Given the description of an element on the screen output the (x, y) to click on. 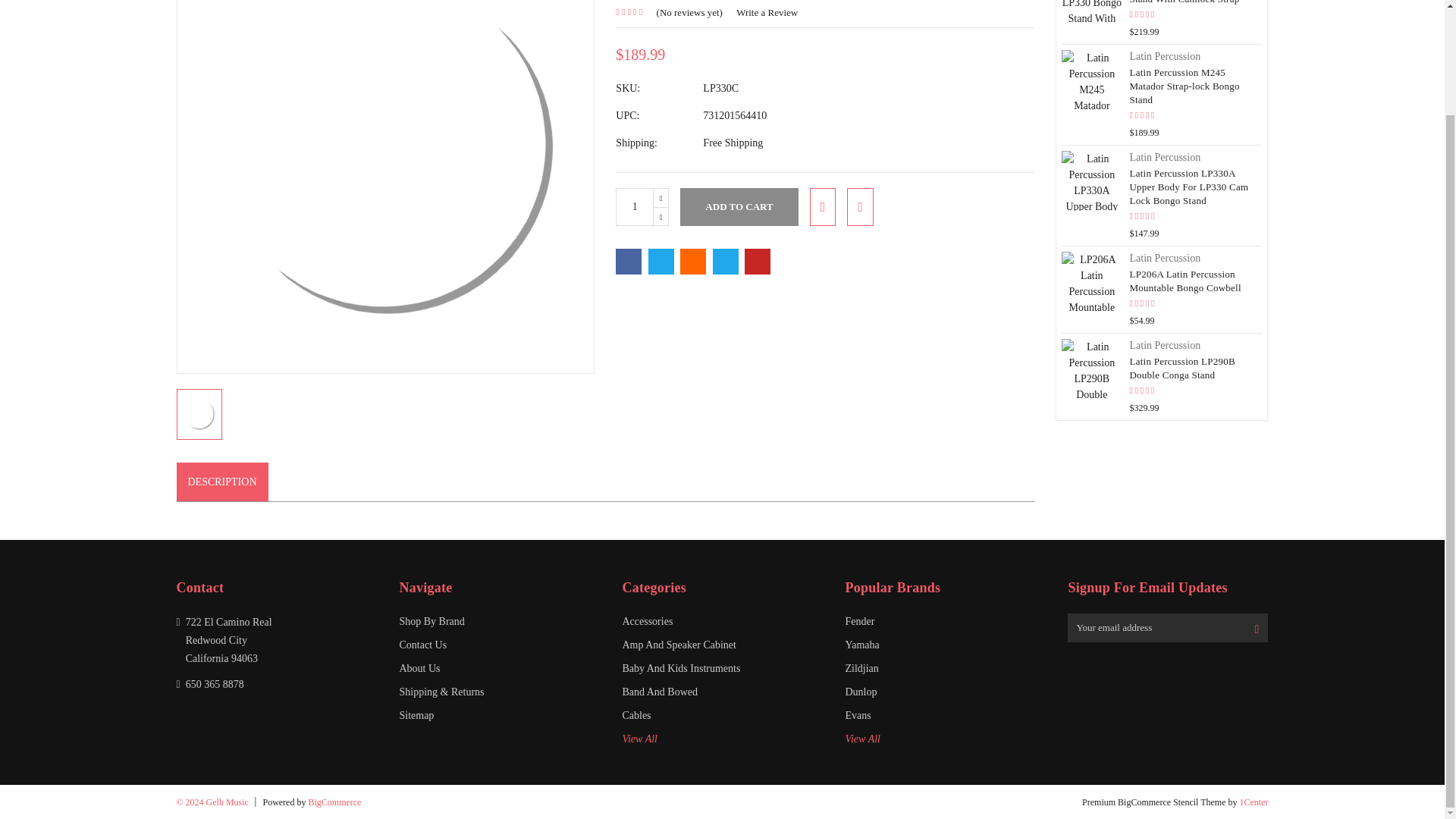
Latin Percussion M245 Matador Strap-lock Bongo Stand (1091, 79)
1 (634, 207)
LP206A Latin Percussion Mountable Bongo Cowbell (1091, 281)
Add to Cart (738, 207)
Latin Percussion LP290B Double Conga Stand (1091, 368)
Latin Percussion LP330 Bongo Stand With Camlock Strap (1091, 11)
